Given the description of an element on the screen output the (x, y) to click on. 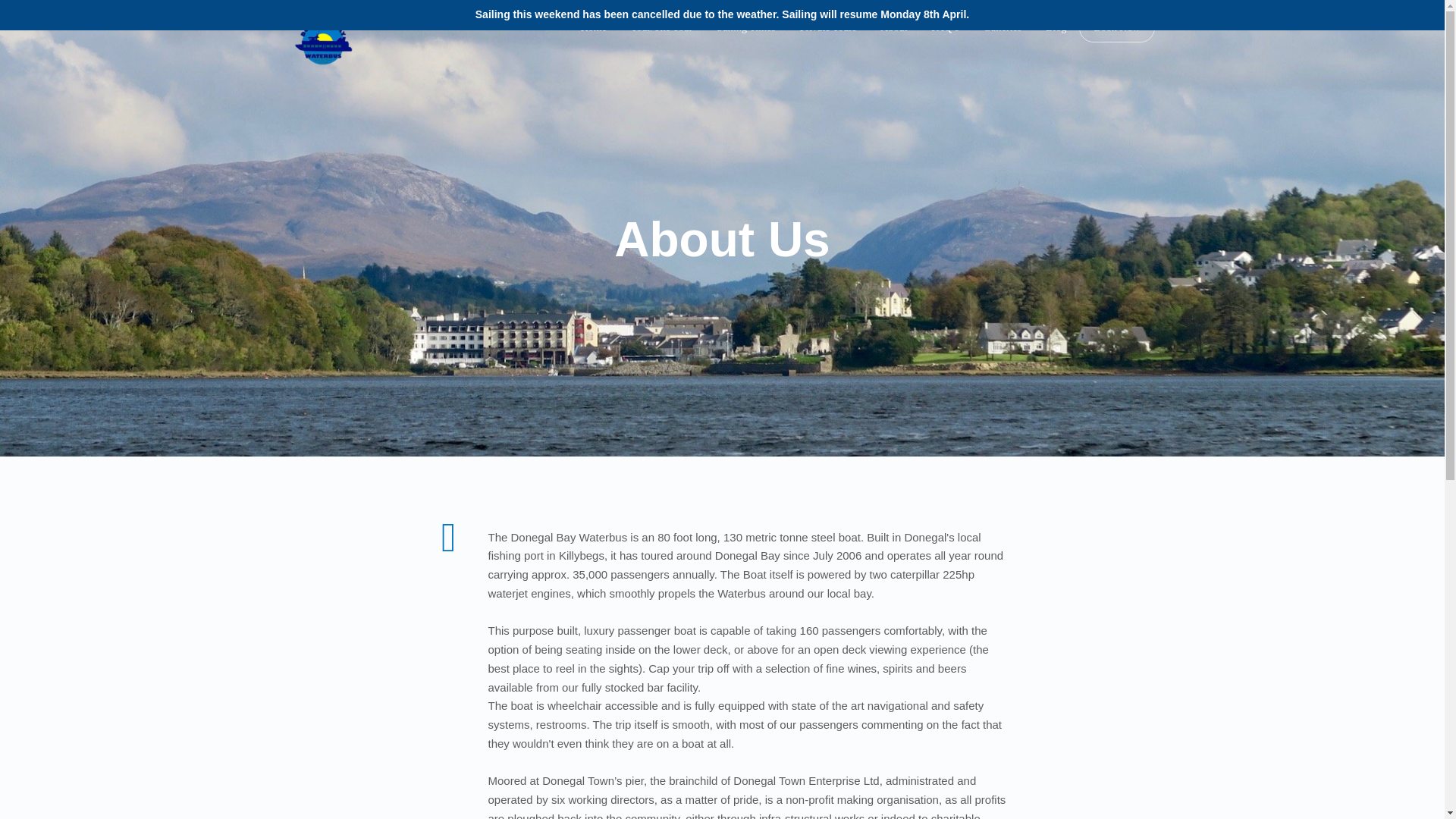
Private Tours (828, 27)
Book Now (1116, 28)
Sailing Times (745, 27)
Galleries (1003, 27)
